Given the description of an element on the screen output the (x, y) to click on. 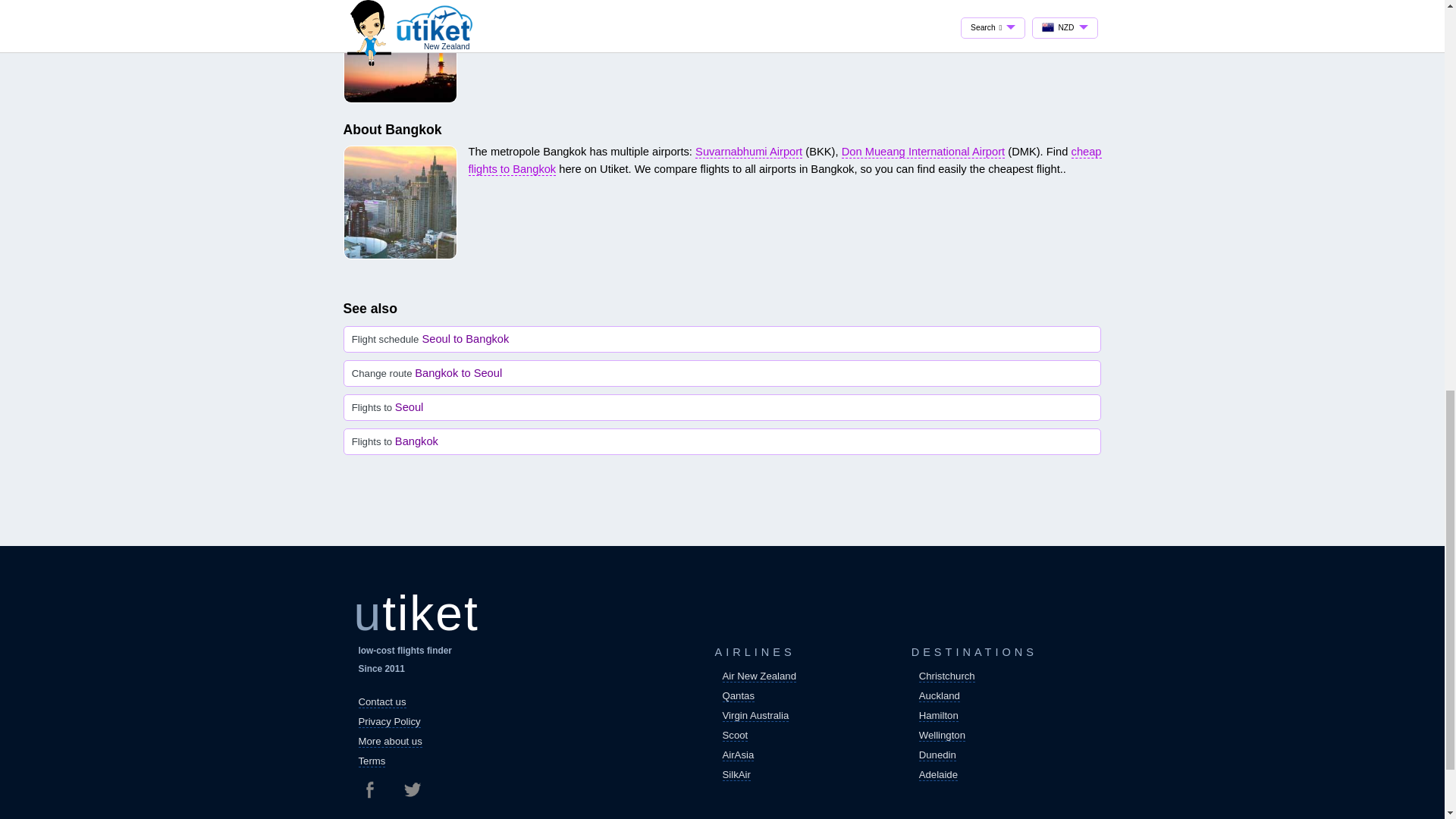
Change route Bangkok to Seoul (721, 373)
More about us (390, 741)
Flight schedule Seoul to Bangkok (721, 339)
cheap flights to Bangkok (785, 160)
Privacy Policy (389, 721)
Suvarnabhumi Airport (748, 151)
Flights to Bangkok (721, 441)
Seoul Gimpo International Airport (951, 1)
Don Mueang International Airport (922, 151)
Contact us (382, 702)
Flights to Seoul (721, 407)
cheap flights to Seoul (521, 13)
Incheon International Airport (758, 1)
Utiket on Facebook (374, 789)
Utiket on Twitter (411, 789)
